Given the description of an element on the screen output the (x, y) to click on. 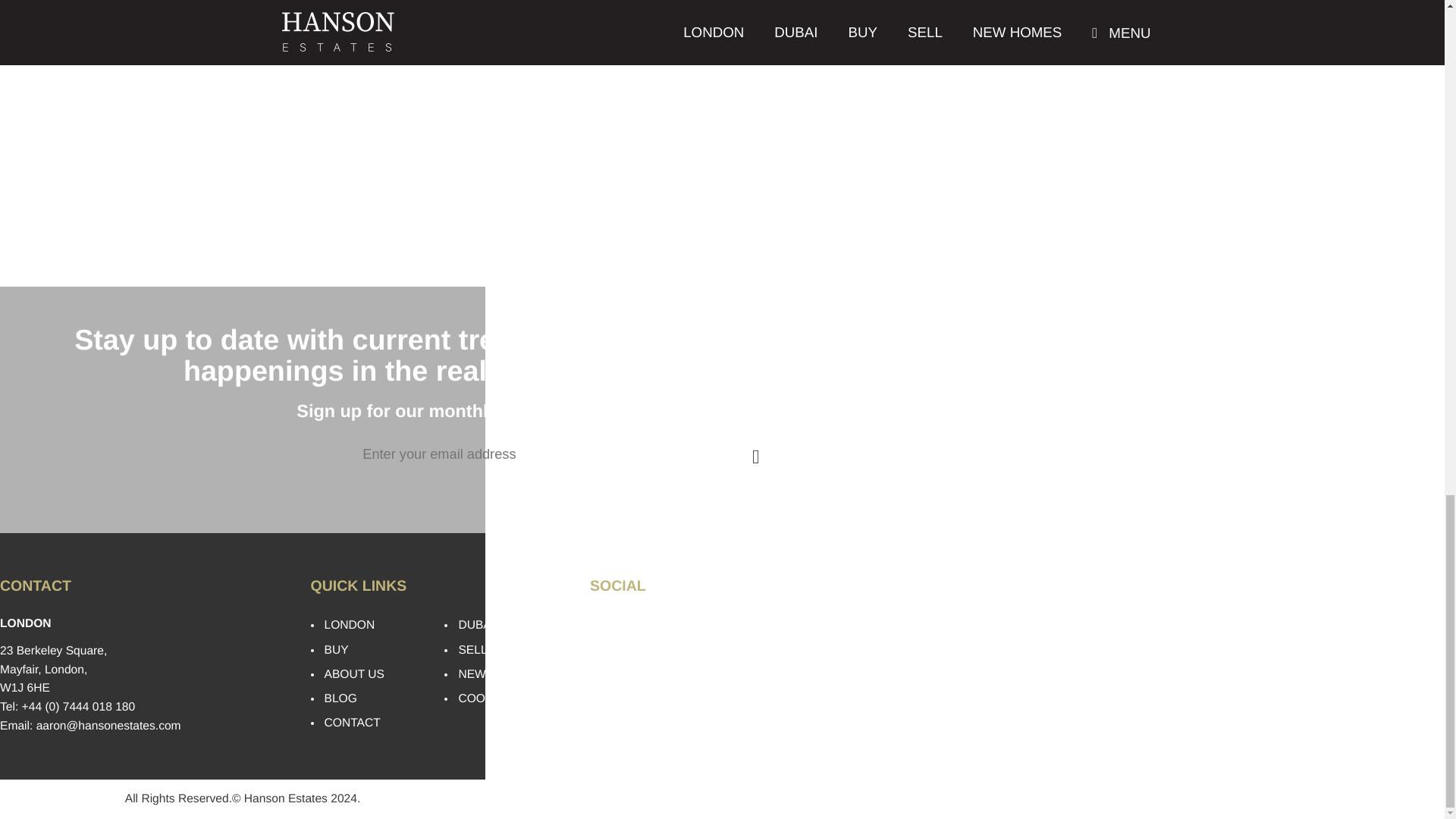
COOKIE POLICY (504, 698)
BLOG (340, 698)
LONDON (349, 625)
CONTACT (352, 722)
LIKE US (622, 626)
DUBAI (476, 625)
WATCH OUR VIDEOS (659, 704)
SELL (472, 649)
NEW HOMES (495, 674)
ABOUT US (354, 674)
